Given the description of an element on the screen output the (x, y) to click on. 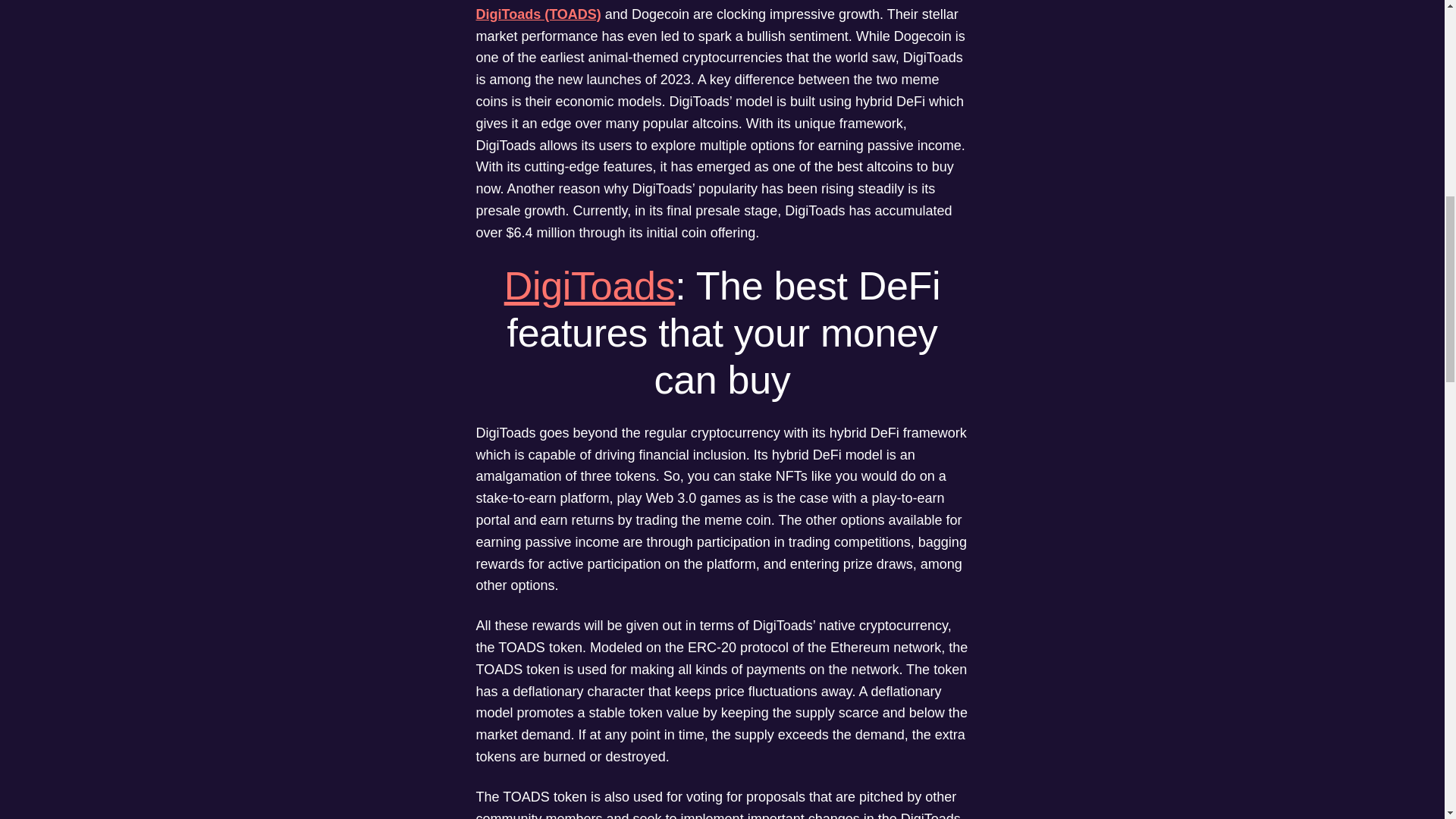
DigiToads (589, 285)
